Given the description of an element on the screen output the (x, y) to click on. 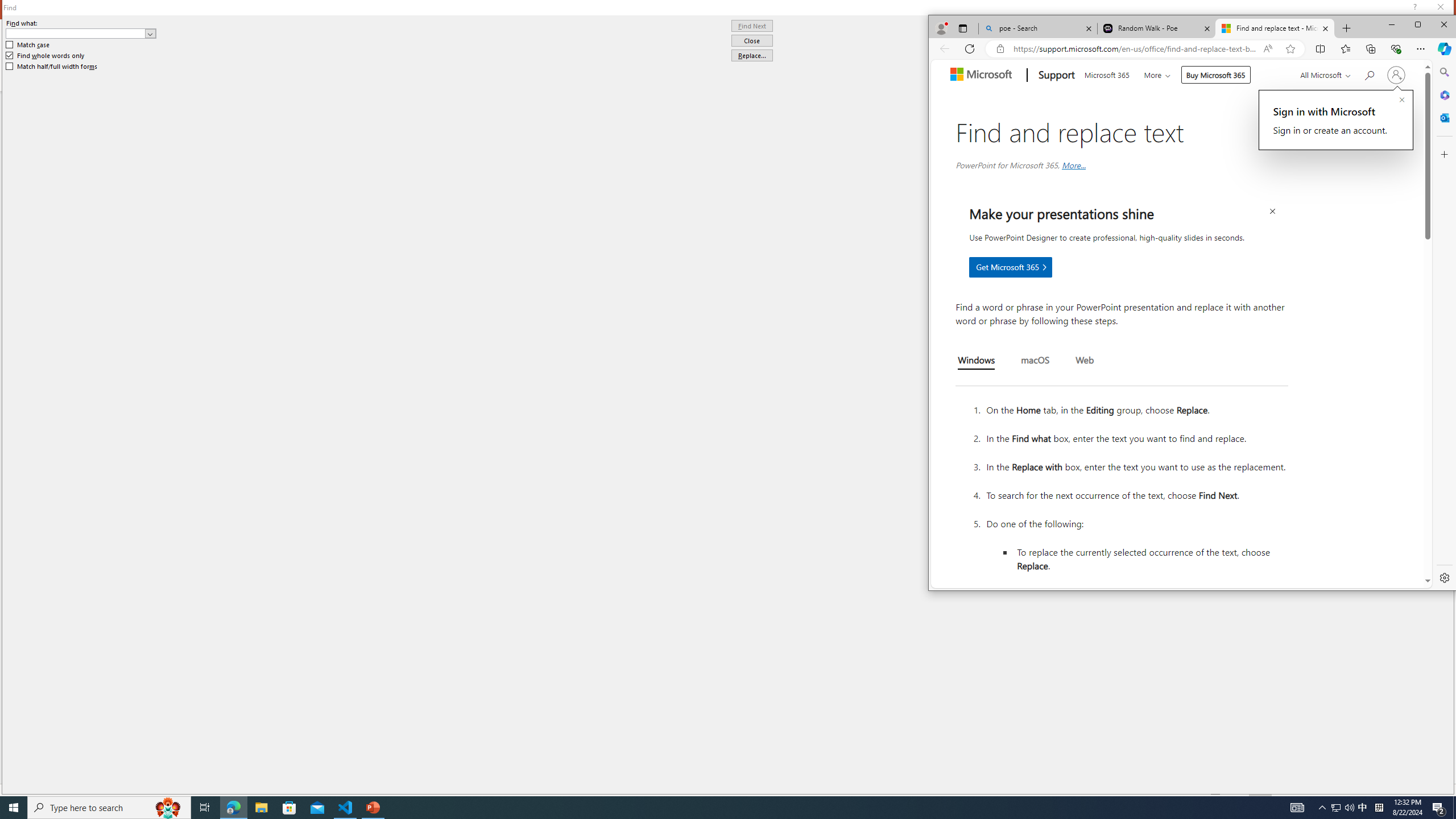
Make your presentations shine Get Microsoft 365 (1010, 267)
Web (1084, 360)
Random Walk - Poe (1156, 28)
macOS (1034, 360)
